Given the description of an element on the screen output the (x, y) to click on. 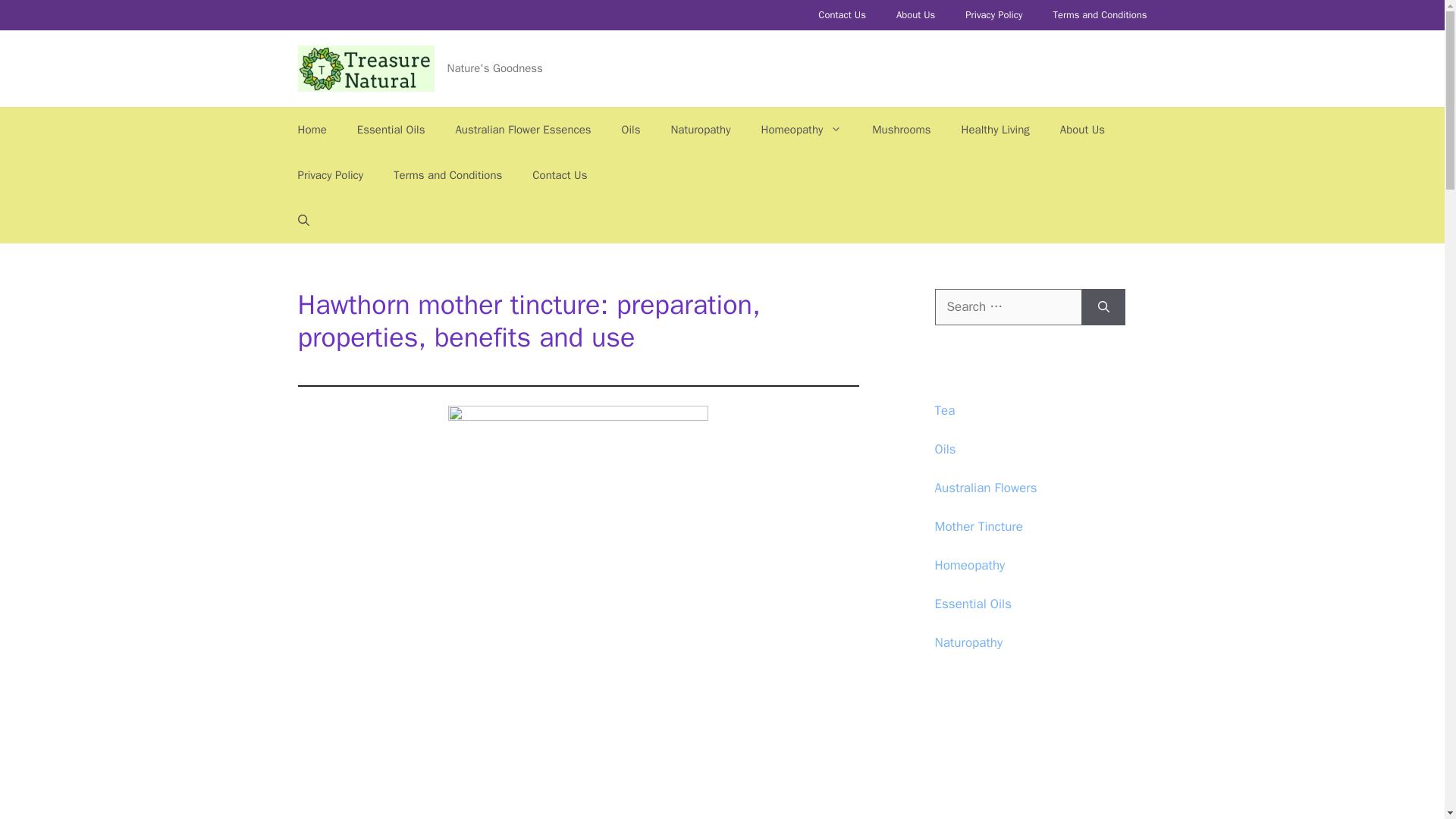
Homeopathy (801, 129)
Healthy Living (995, 129)
About Us (1082, 129)
About Us (915, 15)
Australian Flower Essences (522, 129)
Terms and Conditions (1098, 15)
Privacy Policy (330, 175)
Privacy Policy (993, 15)
Home (311, 129)
Naturopathy (700, 129)
